Given the description of an element on the screen output the (x, y) to click on. 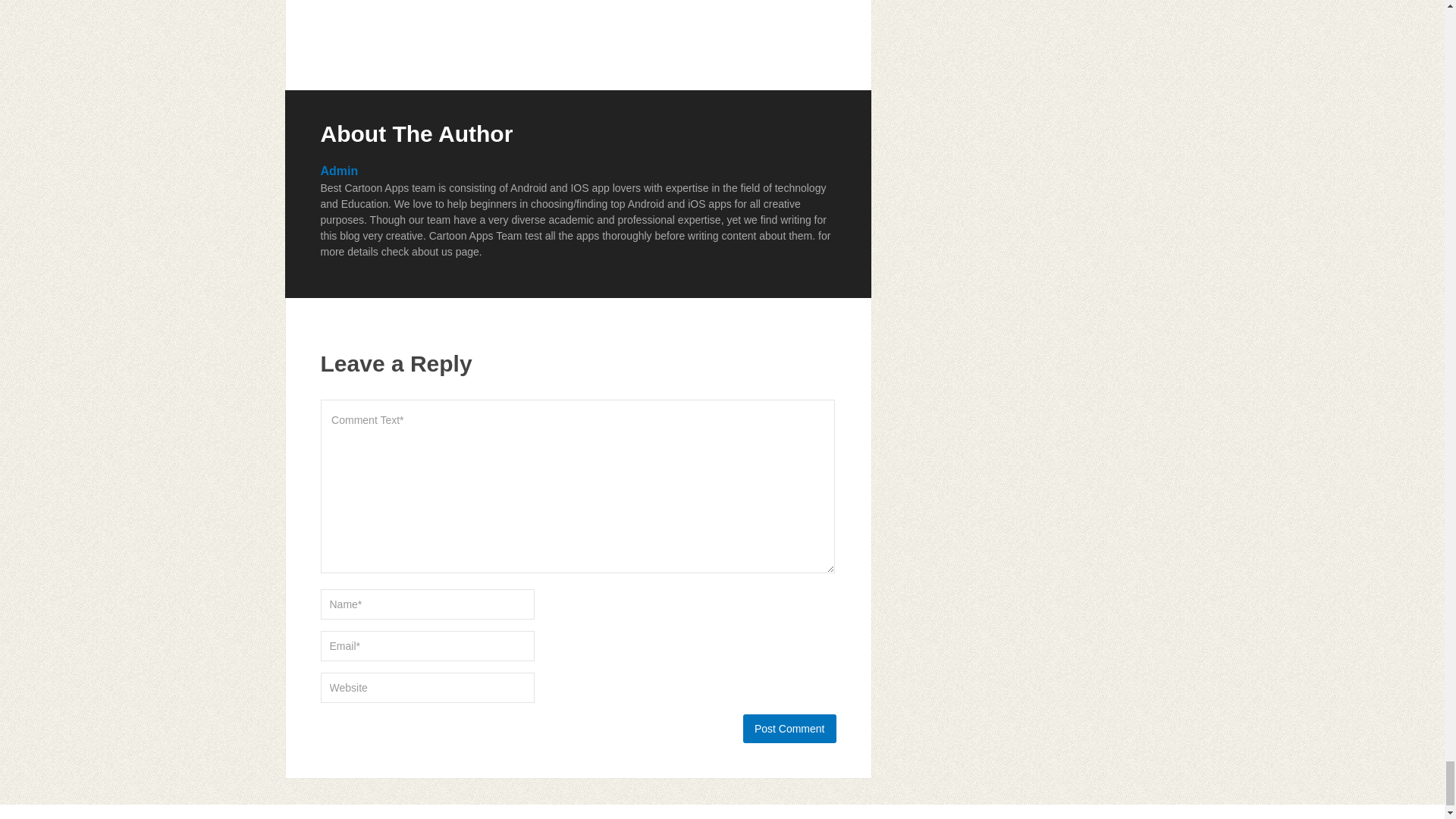
Post Comment (788, 728)
Post Comment (788, 728)
Admin (339, 170)
